Given the description of an element on the screen output the (x, y) to click on. 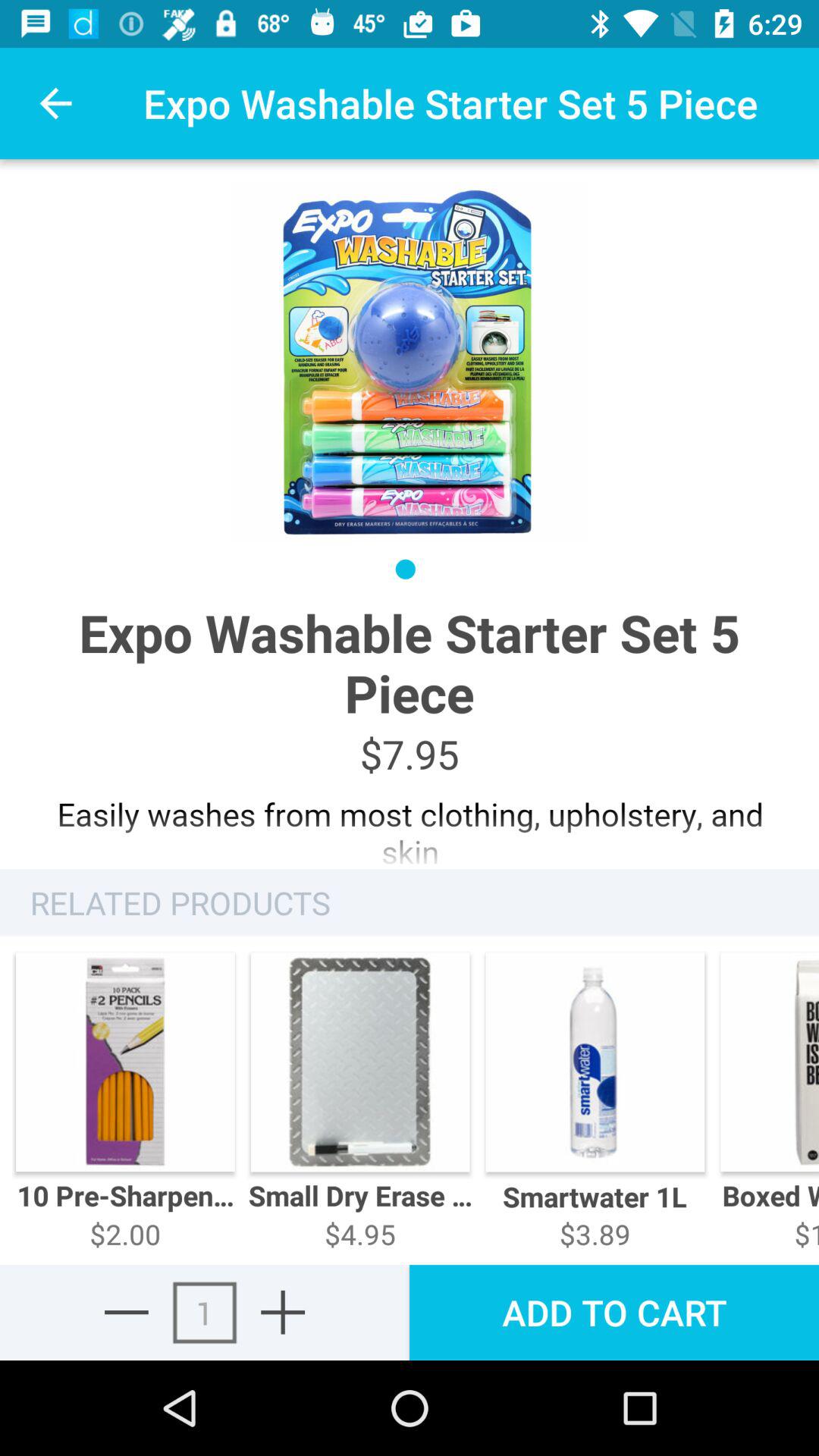
add button (282, 1312)
